Given the description of an element on the screen output the (x, y) to click on. 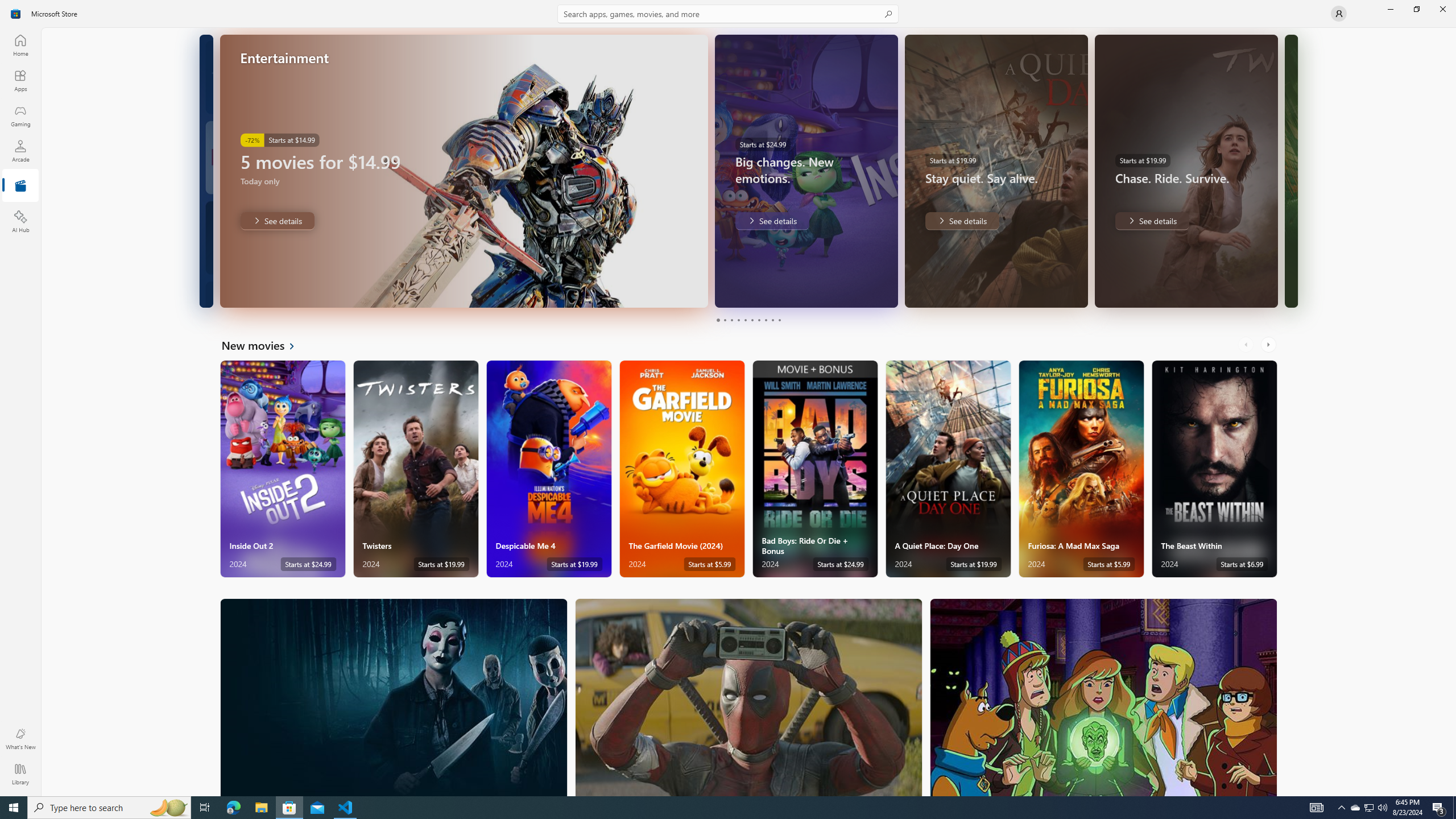
AutomationID: RightScrollButton (1269, 344)
Close Microsoft Store (1442, 9)
Page 9 (772, 319)
